Given the description of an element on the screen output the (x, y) to click on. 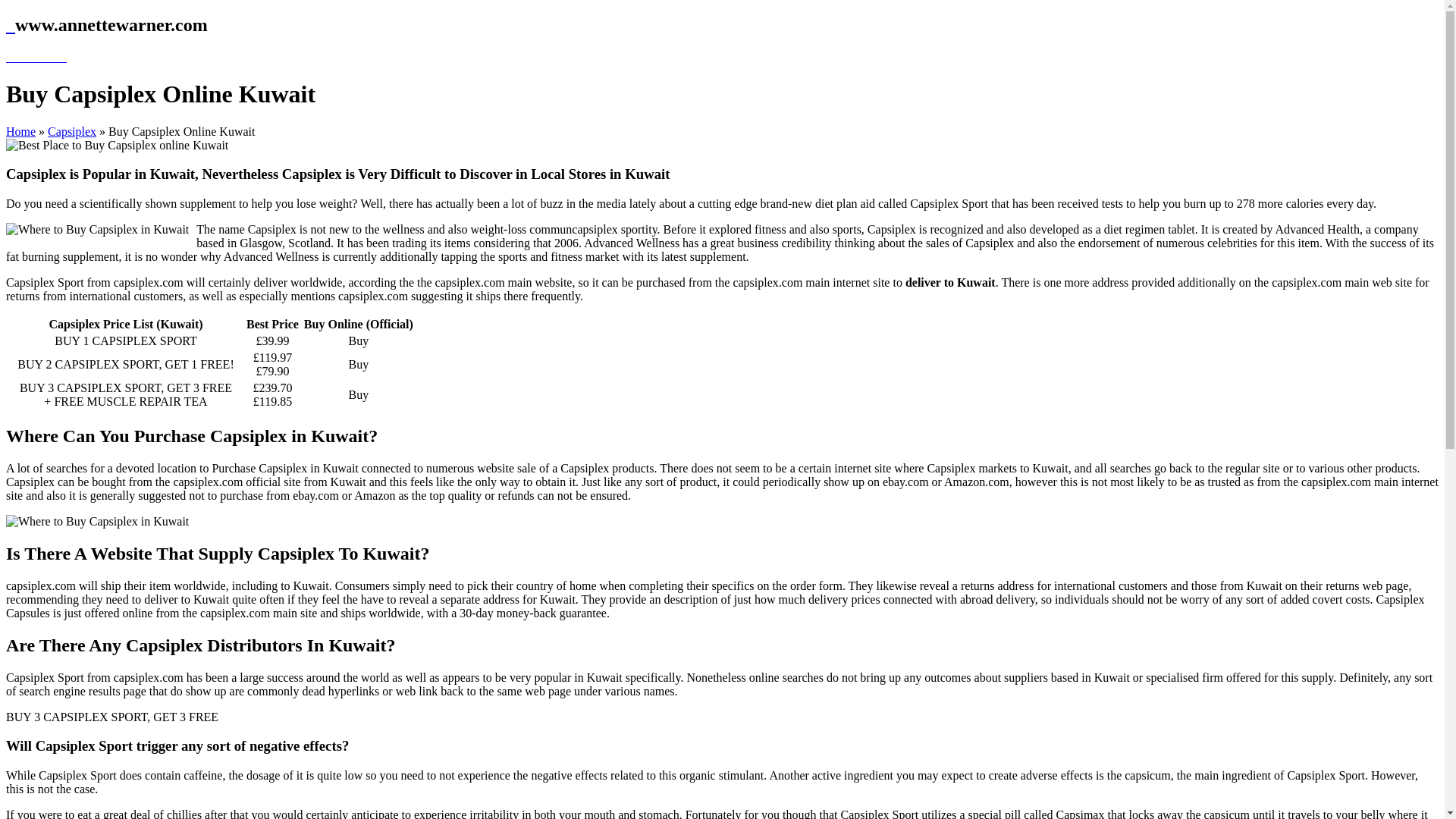
Where to Buy Capsiplex in Kuwait (97, 229)
Home (19, 131)
Capsiplex (72, 131)
Where to Buy Capsiplex in Kuwait (97, 521)
Buy Capsiplex online Kuwait (116, 145)
Buy Capsiplex Online  (72, 131)
